Given the description of an element on the screen output the (x, y) to click on. 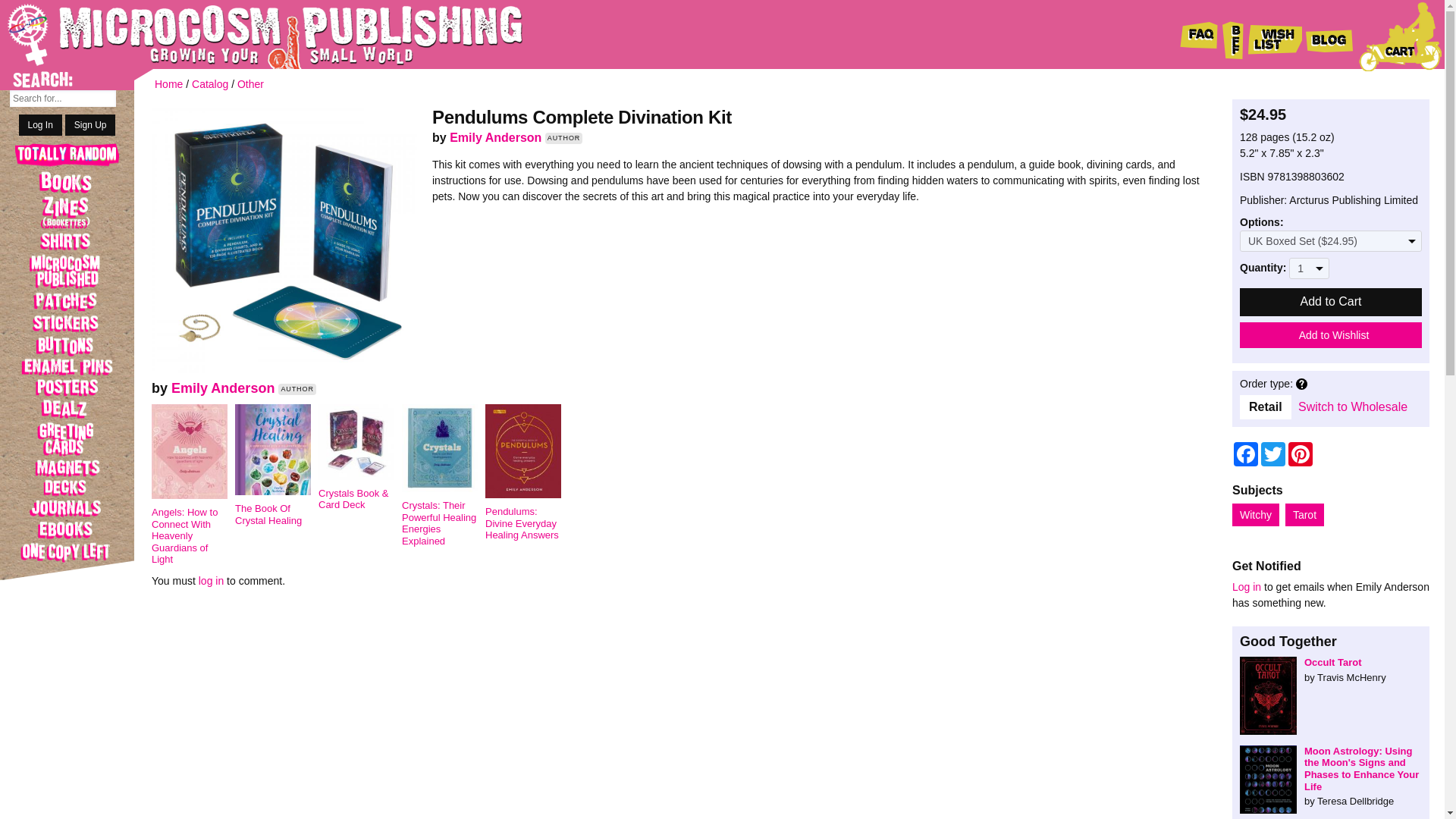
Crystals: Their Powerful Healing Energies Explained (442, 514)
Sign Up (90, 124)
cart (1399, 36)
back to Microcosm Publishing homepage (242, 34)
Add to Cart (1331, 302)
Jump to totally random title (66, 156)
Pendulums: Divine Everyday Healing Answers (526, 514)
Occult Tarot (1331, 669)
The Book Of Crystal Healing (276, 505)
Zines (66, 212)
Books (66, 181)
Log In (40, 124)
Add to Wishlist (1331, 335)
Shirts (66, 241)
